Given the description of an element on the screen output the (x, y) to click on. 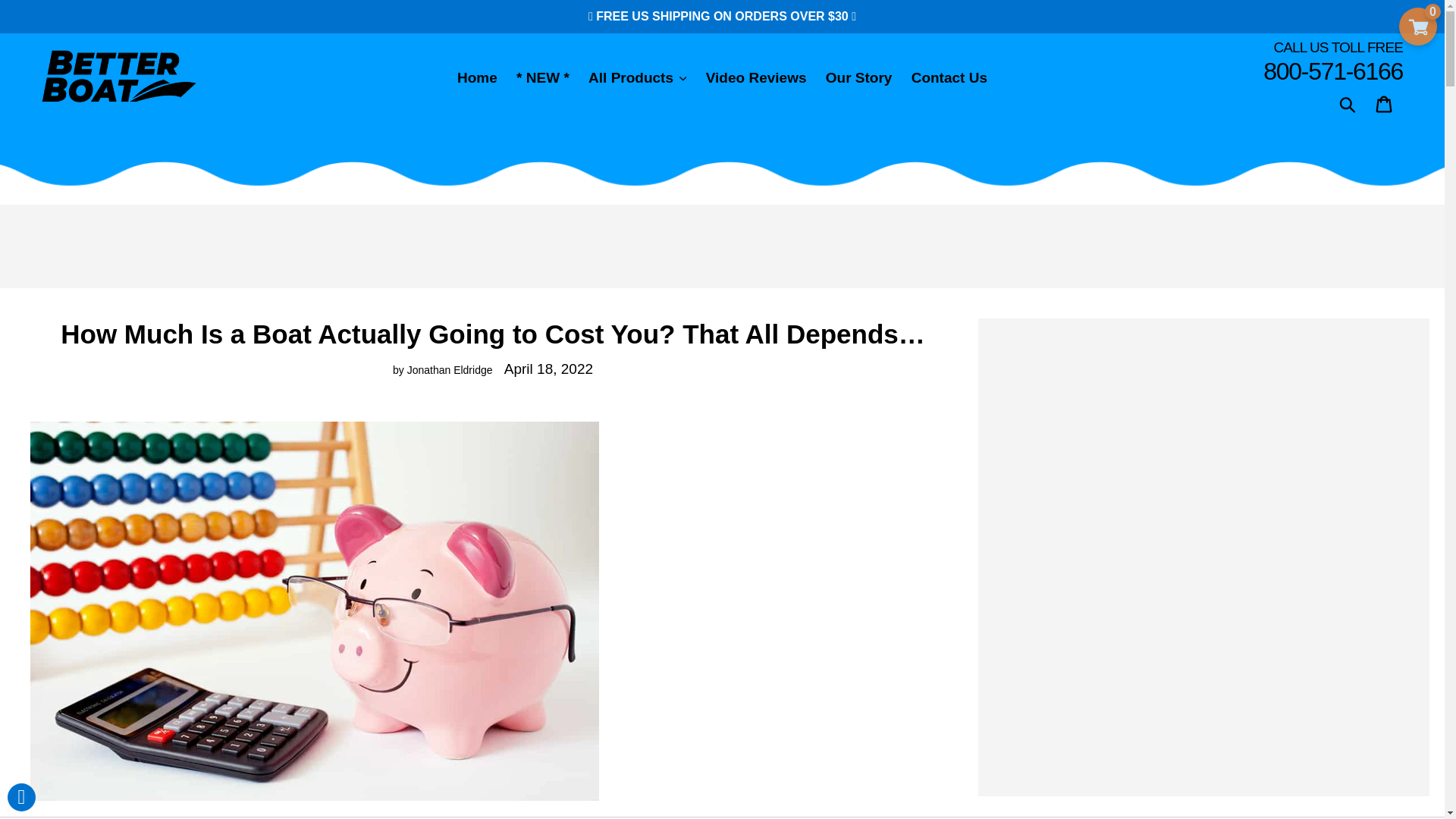
Home (477, 78)
Submit (1348, 103)
Contact Us (949, 78)
Video Reviews (755, 78)
Our Story (858, 78)
Cart (1385, 103)
